Given the description of an element on the screen output the (x, y) to click on. 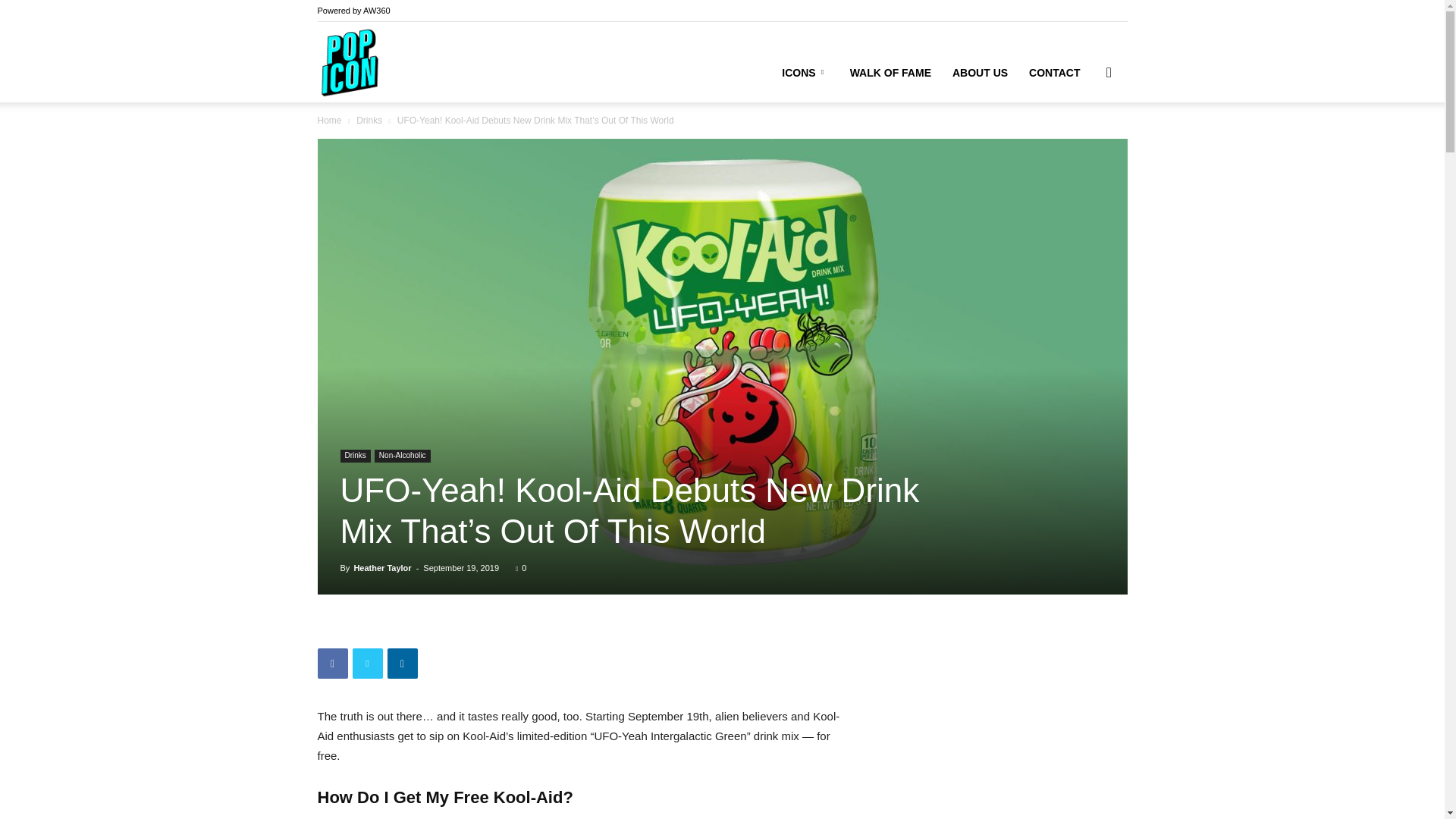
Heather Taylor (381, 567)
View all posts in Drinks (368, 120)
Non-Alcoholic (402, 455)
Drinks (368, 120)
WALK OF FAME (891, 72)
PopIcon.life (348, 61)
ICONS (804, 72)
Home (328, 120)
Drinks (354, 455)
Powered by AW360 (353, 10)
0 (520, 567)
Search (1085, 144)
ABOUT US (979, 72)
CONTACT (1053, 72)
